Given the description of an element on the screen output the (x, y) to click on. 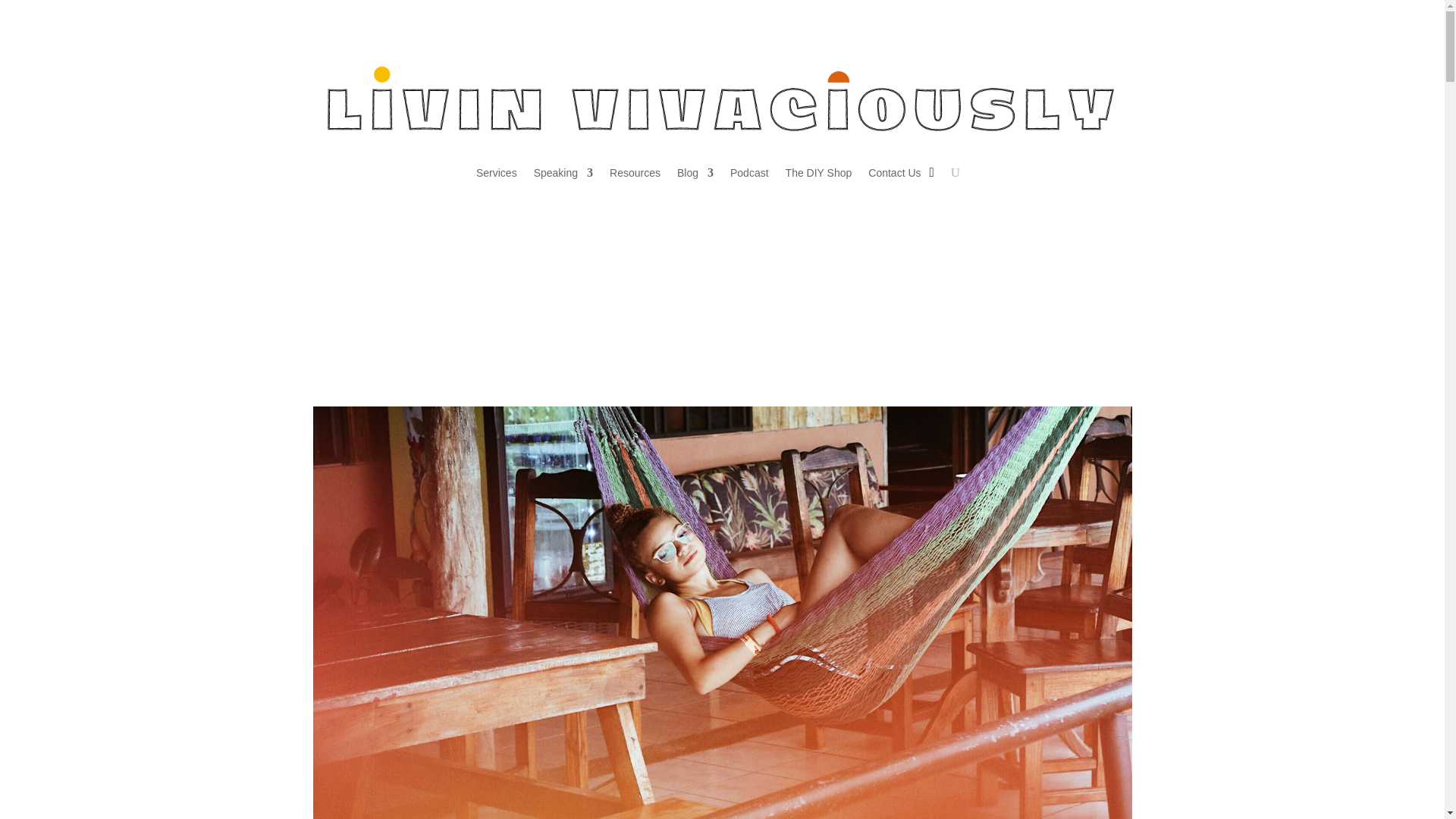
Contact Us (893, 172)
Speaking (563, 172)
The DIY Shop (818, 172)
